Given the description of an element on the screen output the (x, y) to click on. 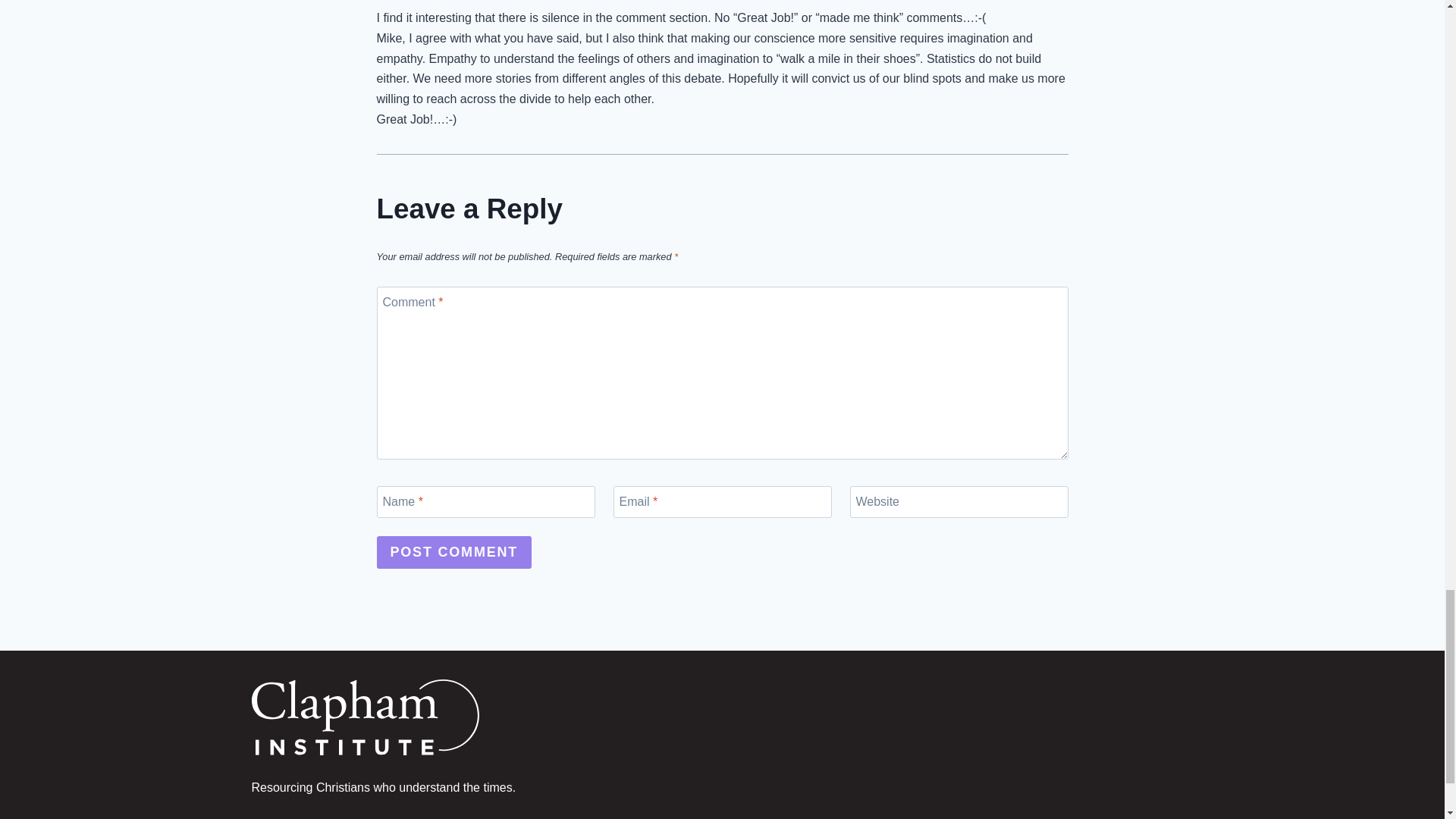
Post Comment (453, 552)
Post Comment (453, 552)
